Given the description of an element on the screen output the (x, y) to click on. 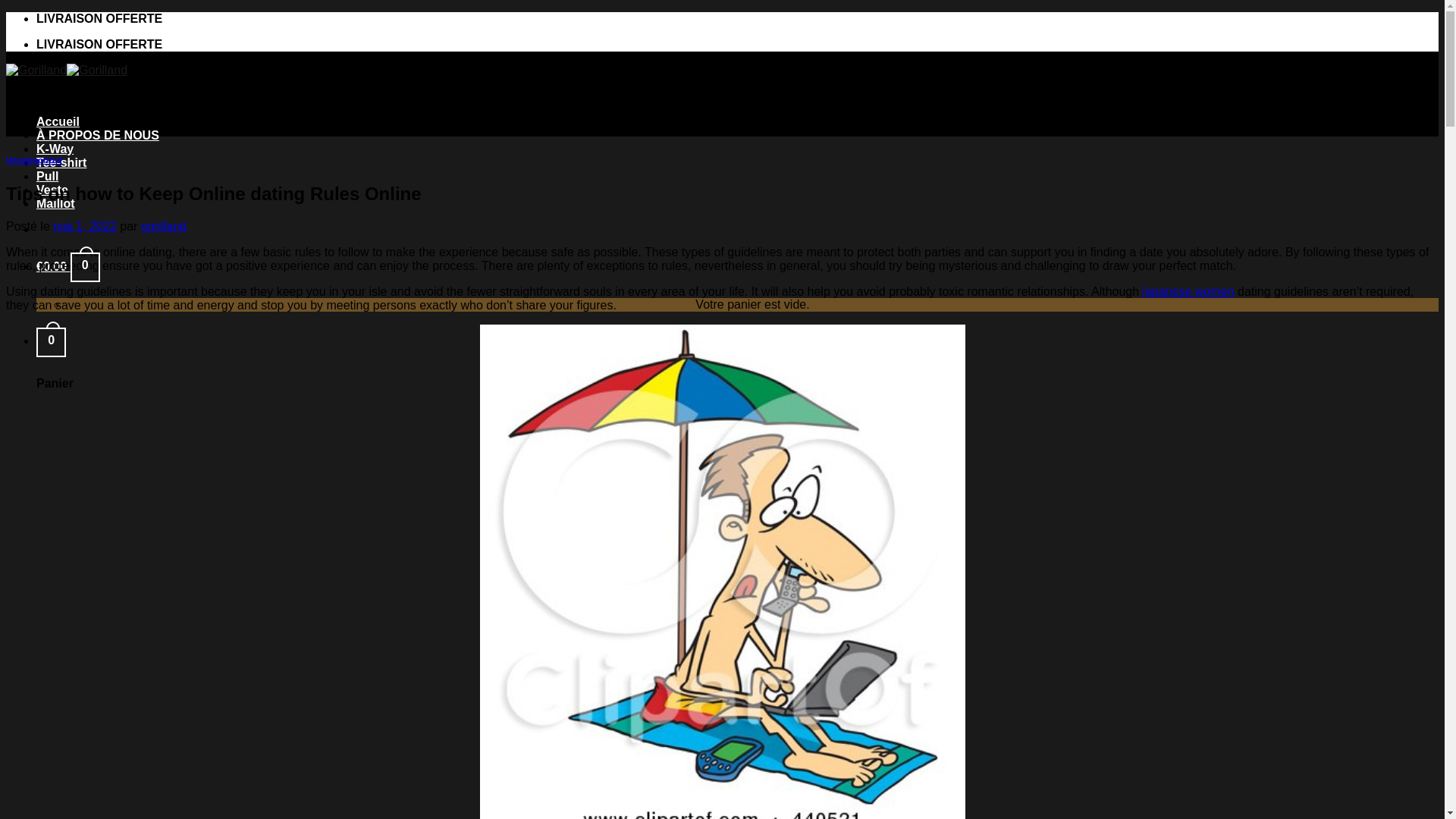
0 (50, 340)
Maillot (55, 203)
japanese women (1188, 291)
Accueil (58, 121)
Uncategorized (33, 159)
Pull (47, 175)
gorilland (163, 226)
Veste (52, 189)
mai 1, 2022 (84, 226)
Tee-shirt (60, 162)
Panier (50, 340)
K-Way (55, 148)
Panier (68, 266)
